Given the description of an element on the screen output the (x, y) to click on. 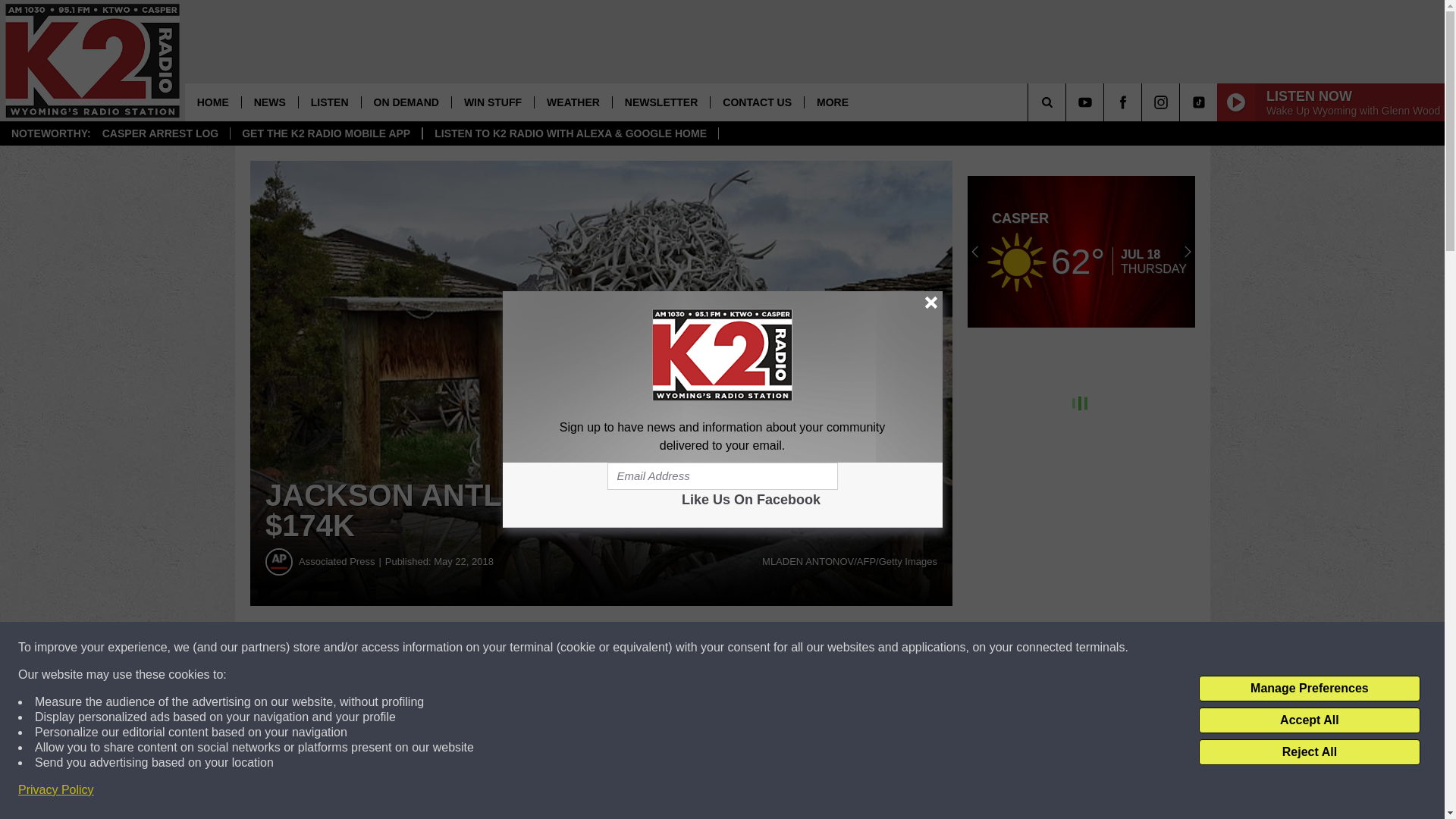
Reject All (1309, 751)
LISTEN (329, 102)
Casper Weather (1081, 251)
Manage Preferences (1309, 688)
NEWS (269, 102)
CONTACT US (756, 102)
Accept All (1309, 720)
NEWSLETTER (660, 102)
WEATHER (572, 102)
Share on Twitter (741, 647)
ON DEMAND (406, 102)
HOME (212, 102)
Email Address (722, 475)
SEARCH (1068, 102)
Privacy Policy (55, 789)
